Given the description of an element on the screen output the (x, y) to click on. 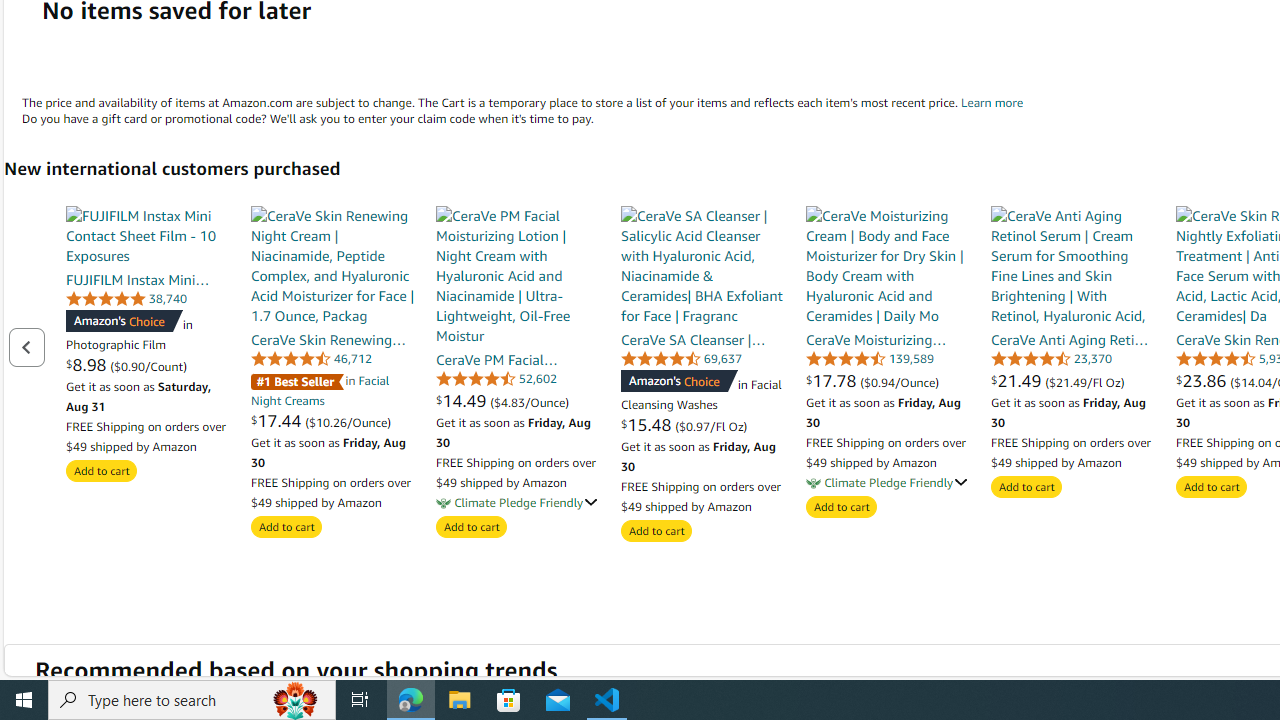
$21.49  (1017, 379)
Previous page (26, 346)
($10.26/Ounce) (347, 421)
Shopping Cart Learn more (992, 102)
$14.49  (463, 399)
